Given the description of an element on the screen output the (x, y) to click on. 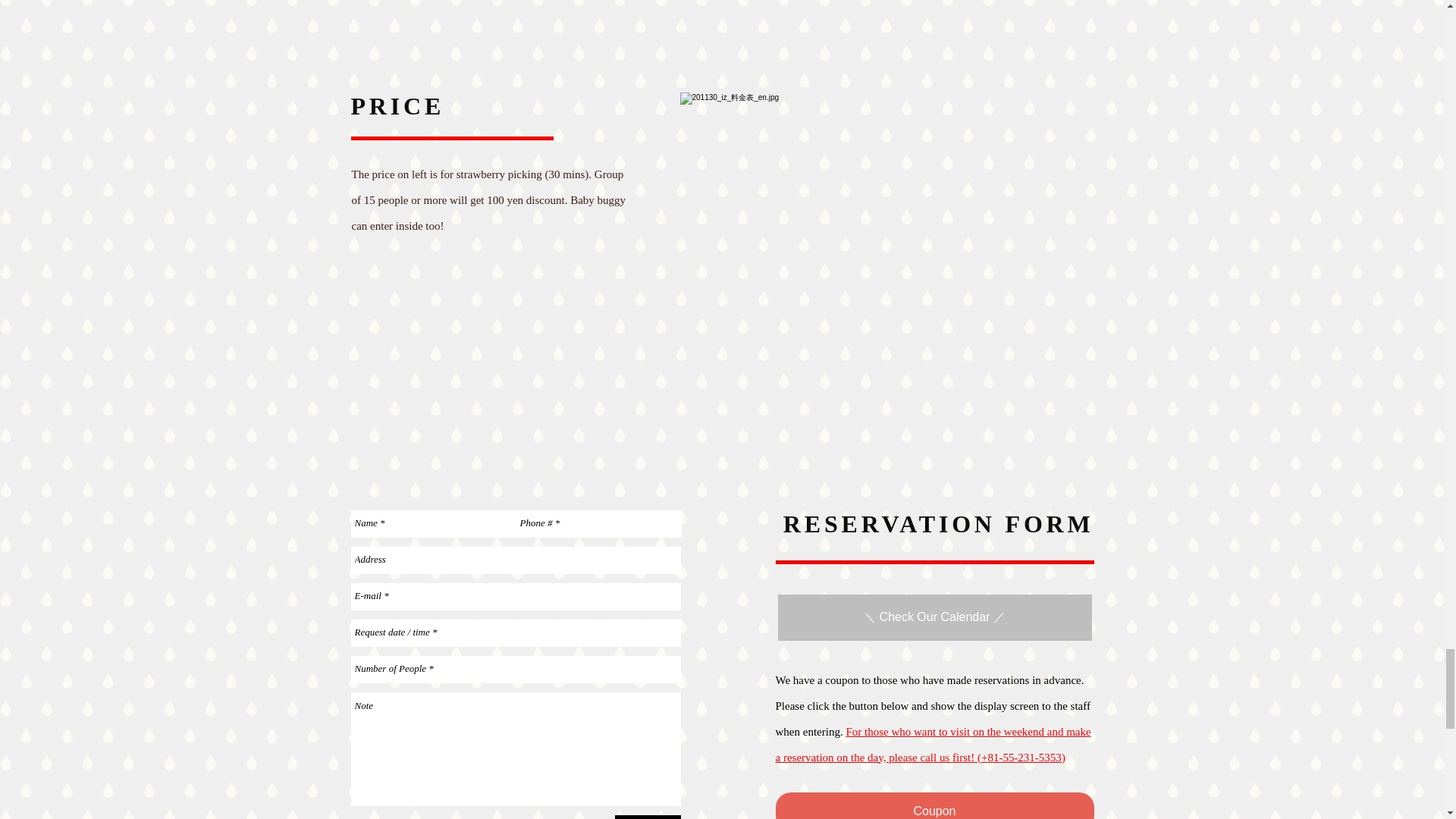
Reserve (646, 816)
Coupon (933, 805)
